Given the description of an element on the screen output the (x, y) to click on. 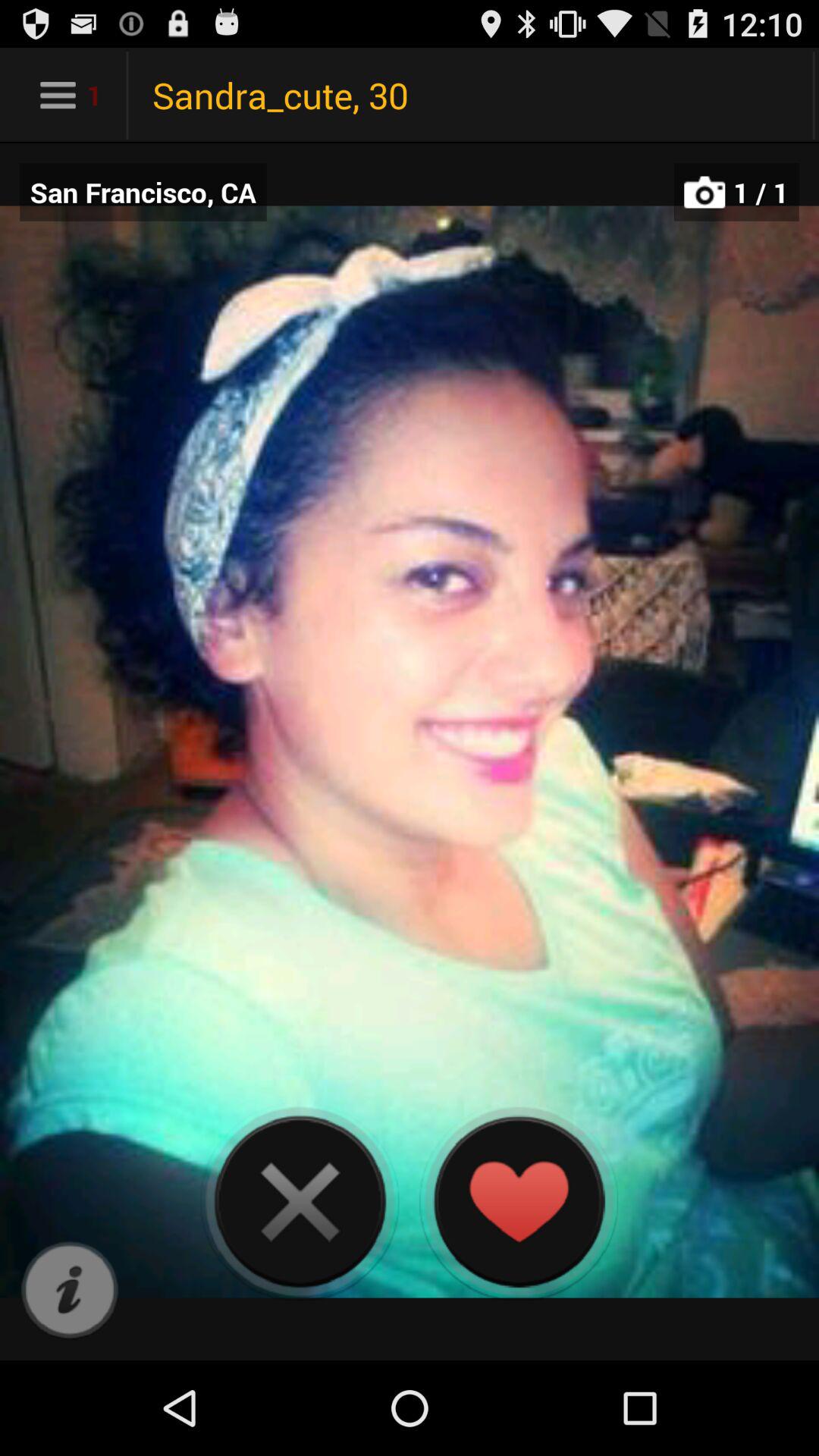
like the picture (518, 1200)
